Given the description of an element on the screen output the (x, y) to click on. 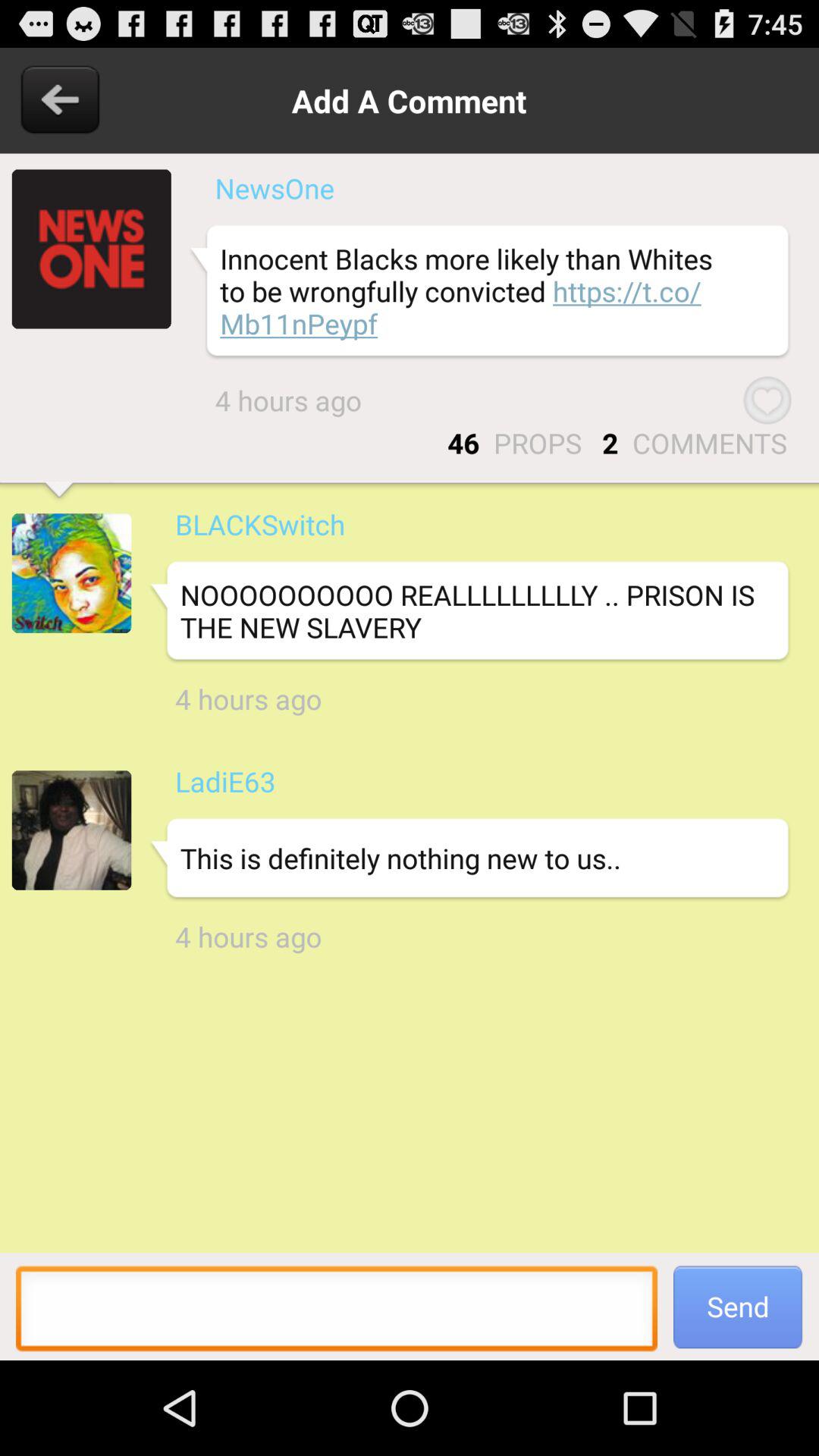
open the item below the ladie63 icon (469, 859)
